Given the description of an element on the screen output the (x, y) to click on. 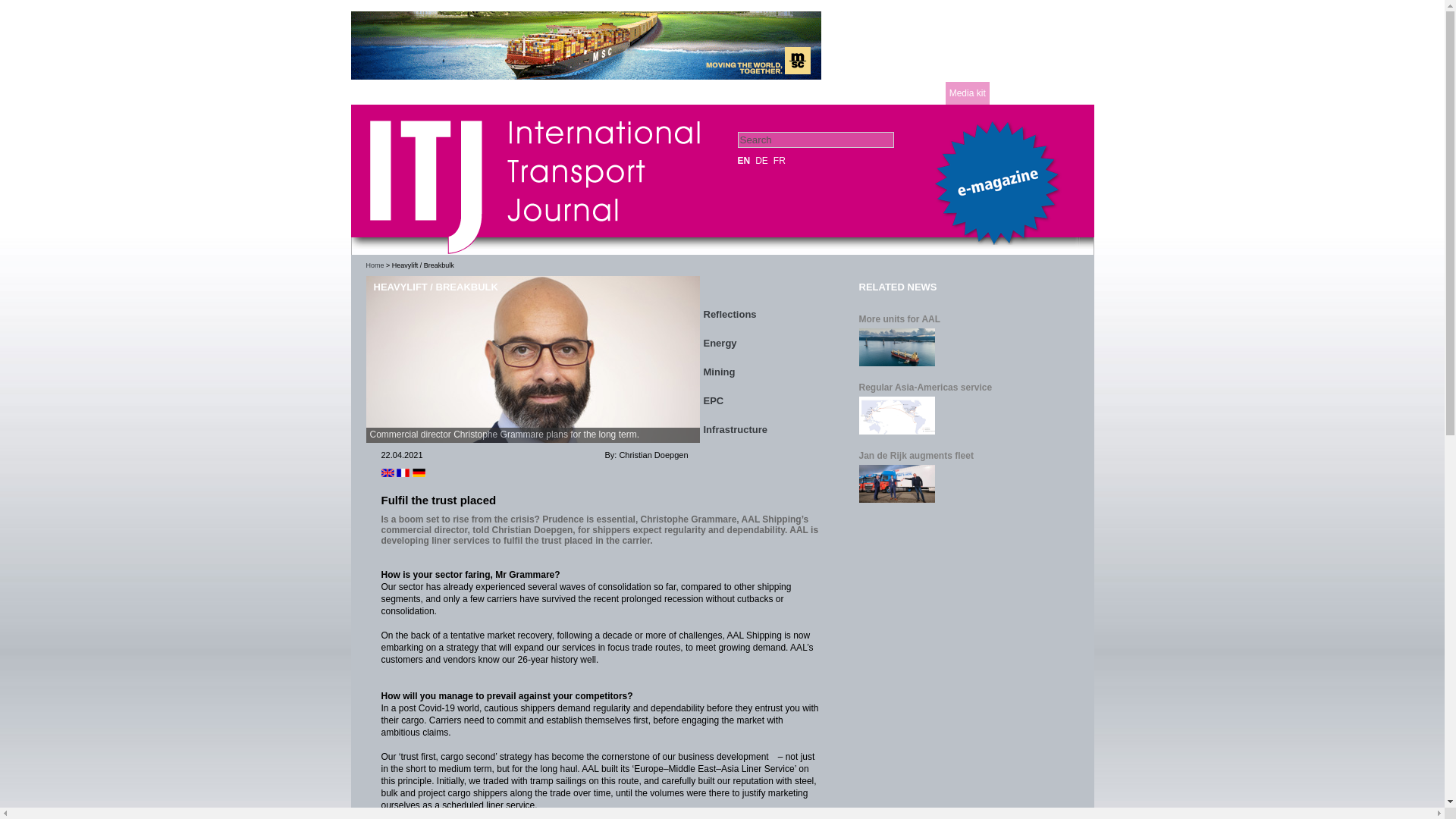
Newsletter (869, 92)
FR (779, 160)
Sitemap (921, 92)
Jan de Rijk augments fleet (964, 455)
Subscription (806, 92)
Regular Asia-Americas service (964, 387)
Search (814, 139)
Photo: AAL (531, 359)
Infrastructure (757, 424)
Search (814, 139)
